Given the description of an element on the screen output the (x, y) to click on. 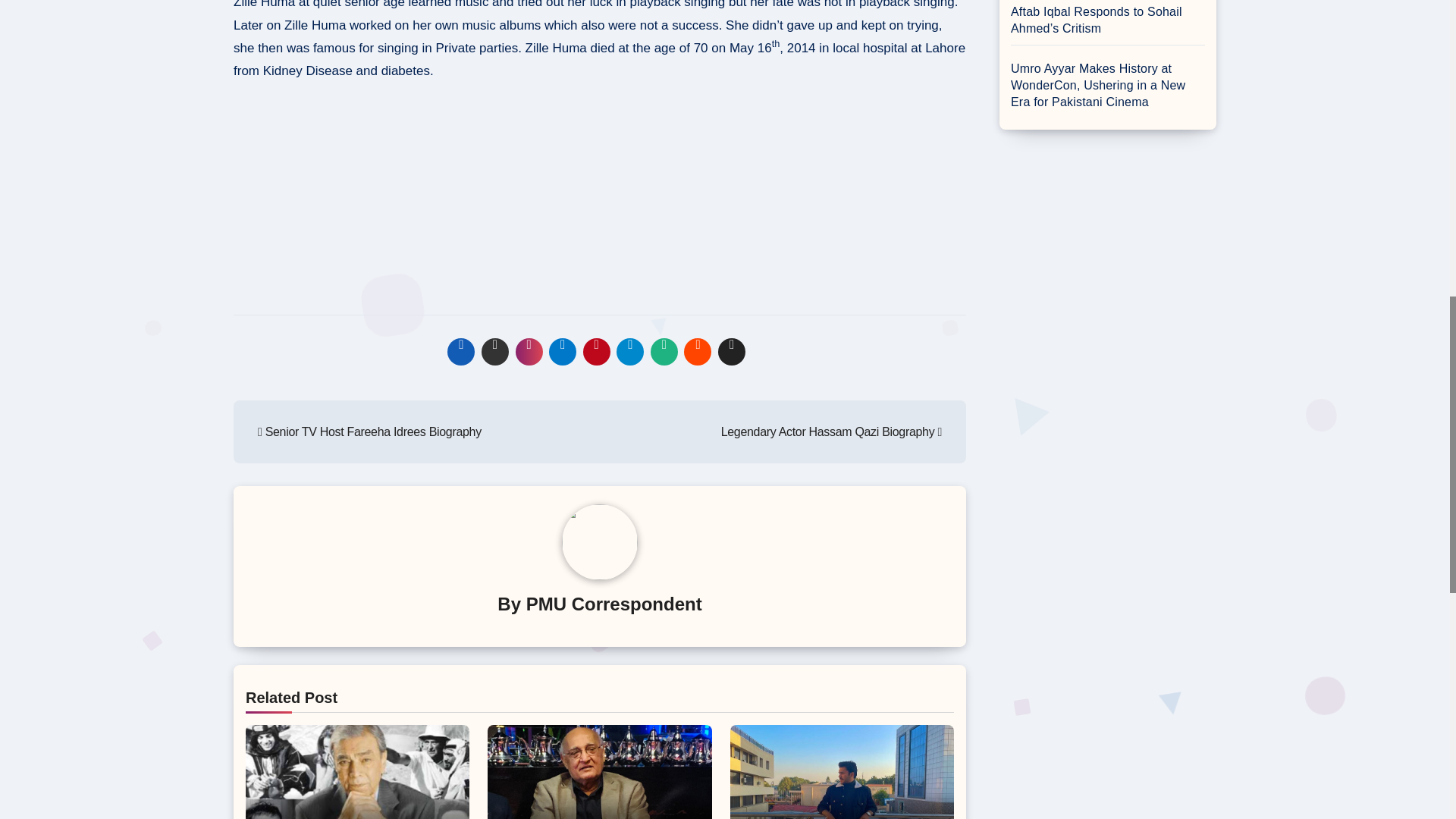
Legendary Actor Hassam Qazi Biography (831, 431)
PMU Correspondent (613, 603)
Senior TV Host Fareeha Idrees Biography (369, 431)
